Given the description of an element on the screen output the (x, y) to click on. 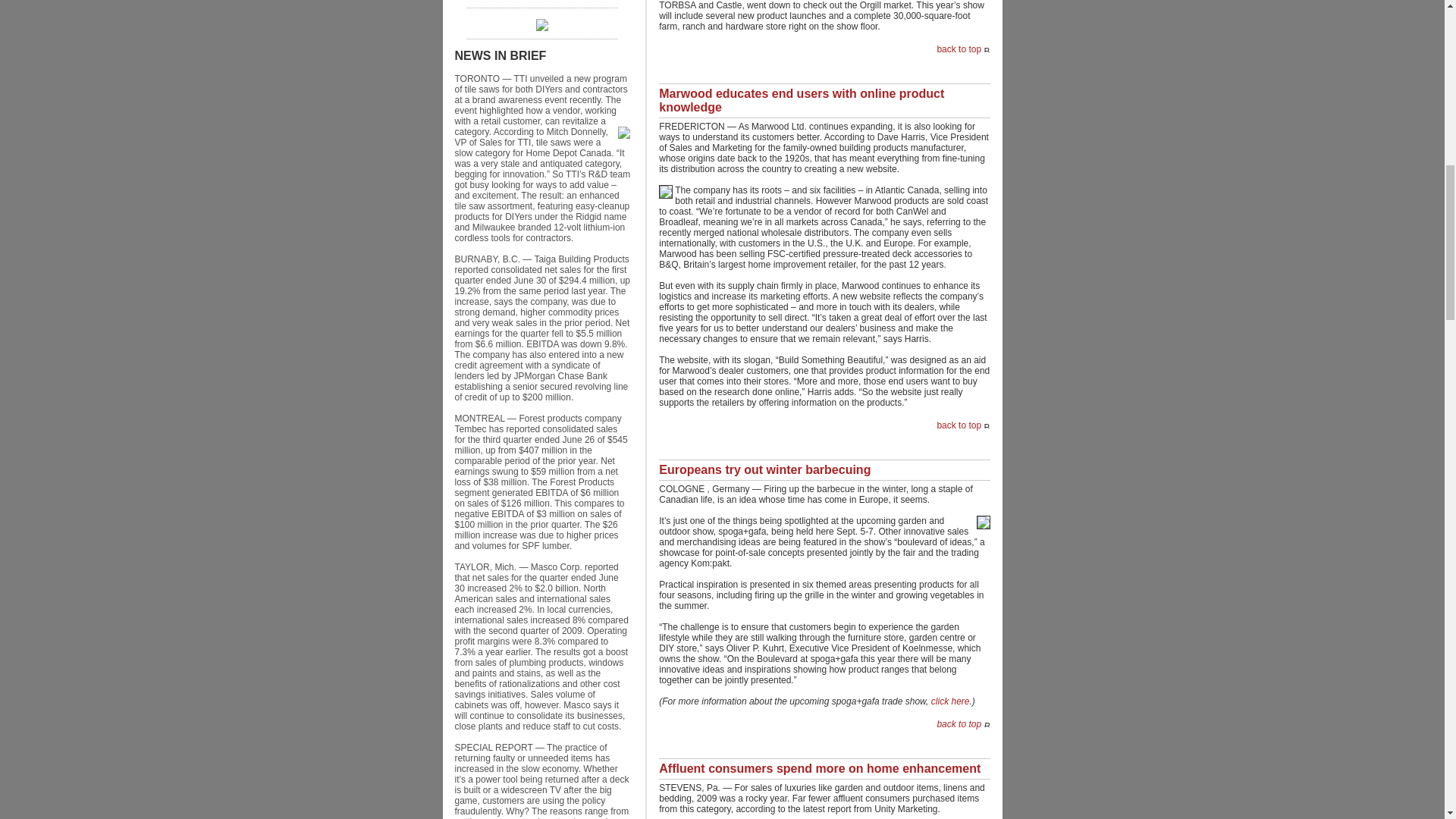
back to top (958, 724)
click here (950, 701)
back to top (958, 49)
back to top (958, 425)
